Given the description of an element on the screen output the (x, y) to click on. 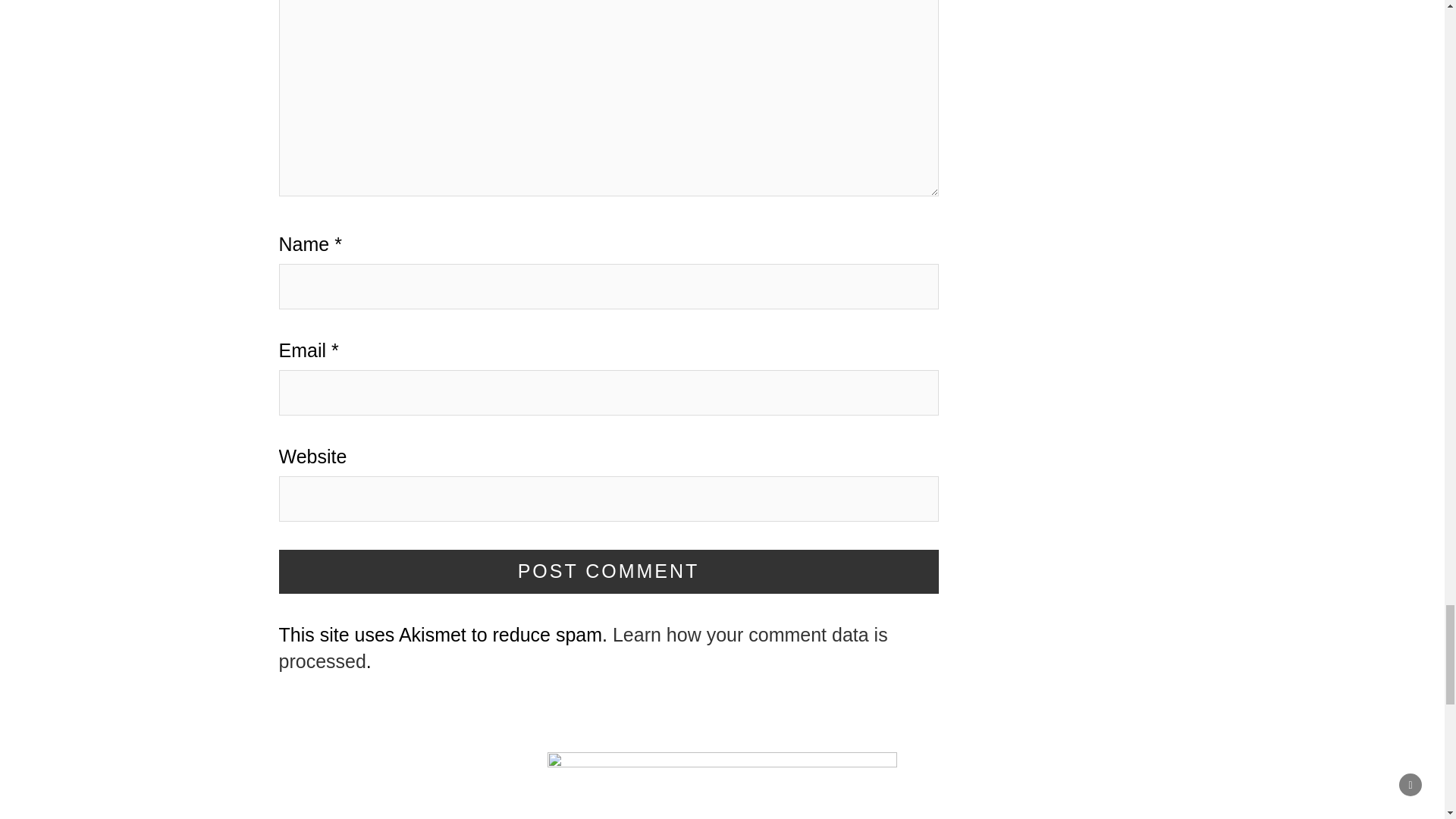
Post Comment (609, 571)
